Given the description of an element on the screen output the (x, y) to click on. 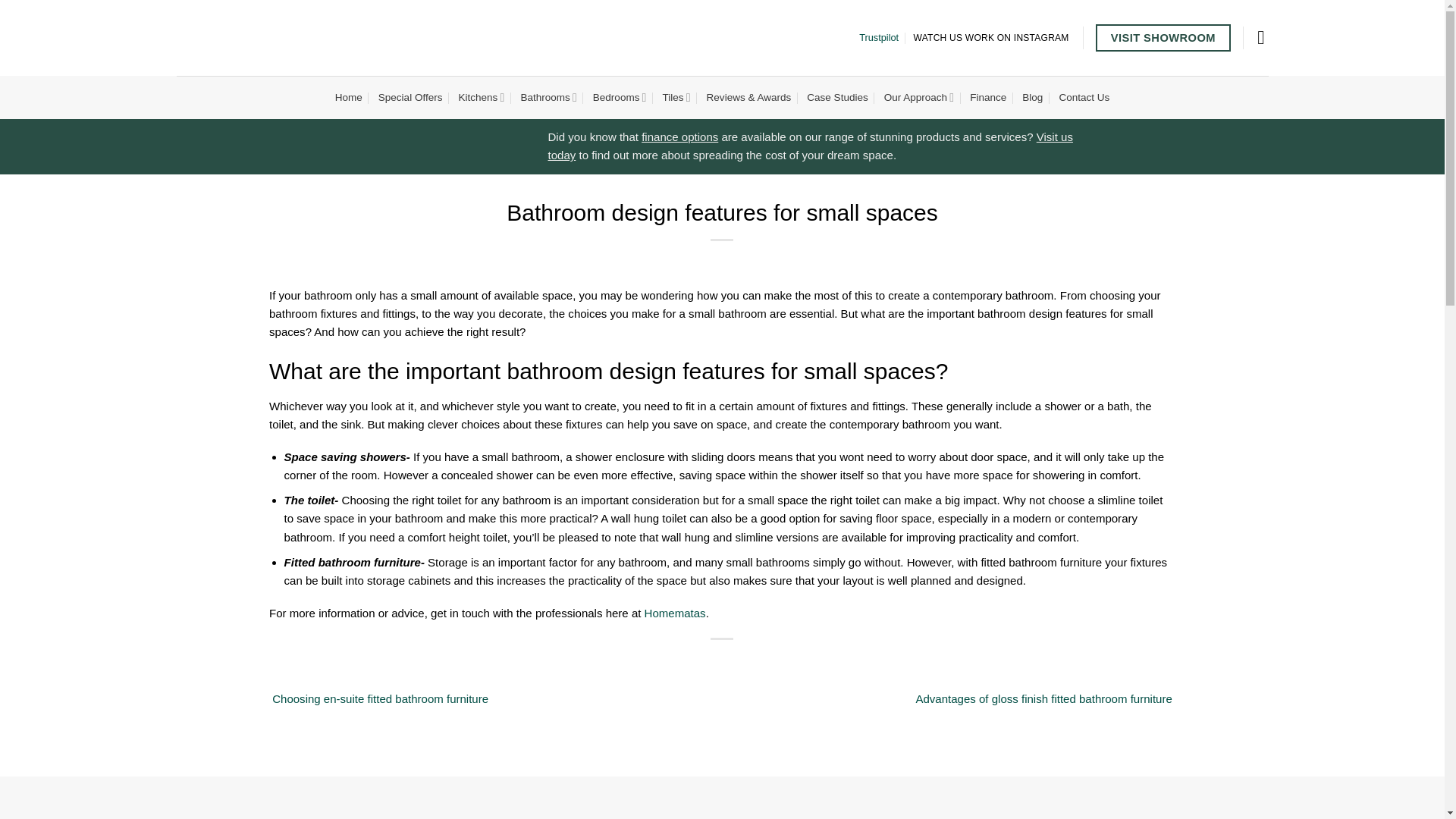
Special Offers (410, 97)
Bedrooms (619, 97)
Share on Twitter (700, 661)
Trustpilot (878, 37)
Pin on Pinterest (742, 661)
Share on Facebook (680, 661)
WATCH US WORK ON INSTAGRAM (991, 37)
VISIT SHOWROOM (1163, 38)
Kitchens (480, 97)
Share on Tumblr (763, 661)
